Given the description of an element on the screen output the (x, y) to click on. 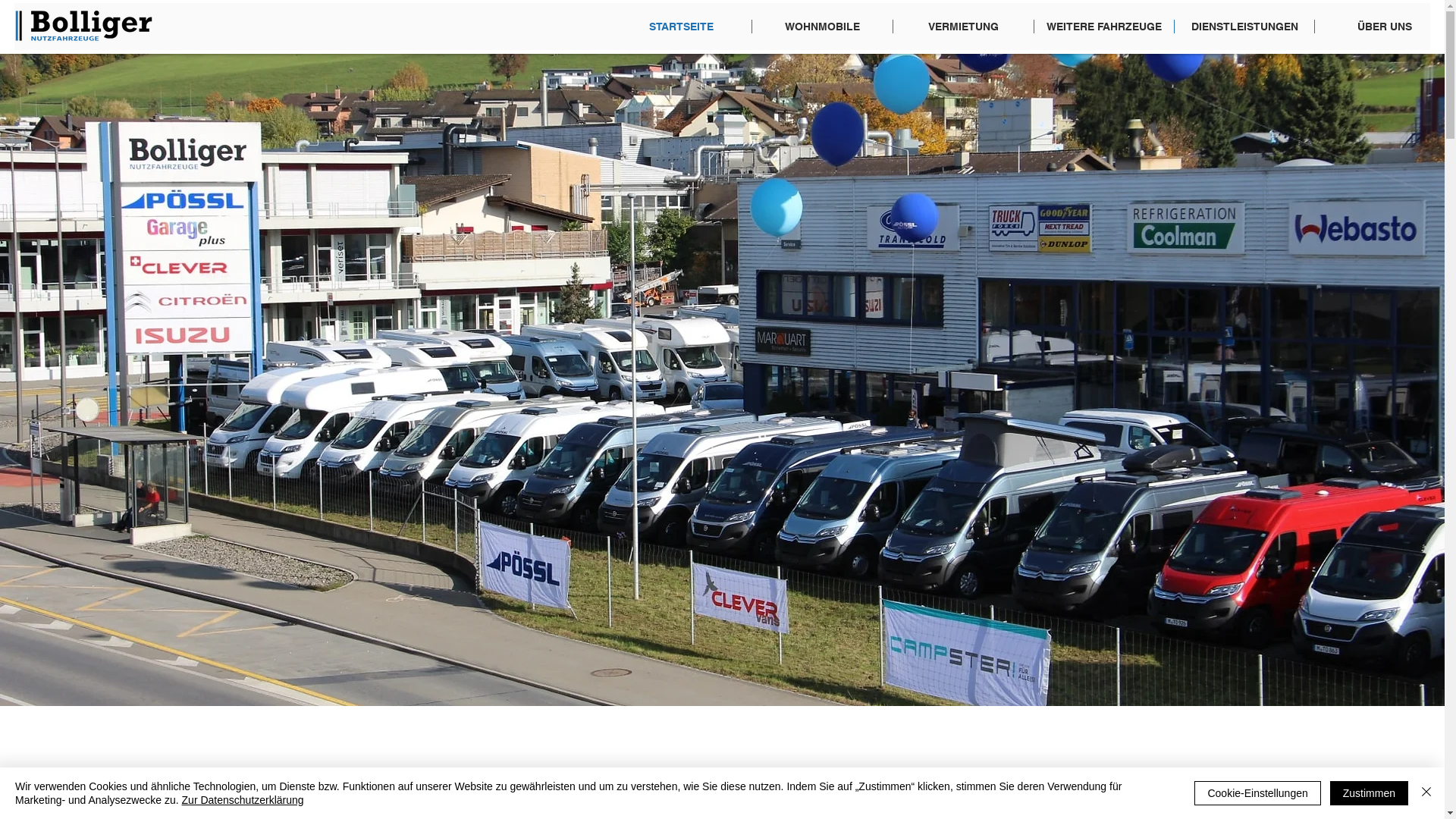
Cookie-Einstellungen Element type: text (1257, 793)
VERMIETUNG Element type: text (962, 26)
Zustimmen Element type: text (1369, 793)
WOHNMOBILE Element type: text (821, 26)
DIENSTLEISTUNGEN Element type: text (1243, 26)
WEITERE FAHRZEUGE Element type: text (1103, 26)
STARTSEITE Element type: text (680, 26)
